Given the description of an element on the screen output the (x, y) to click on. 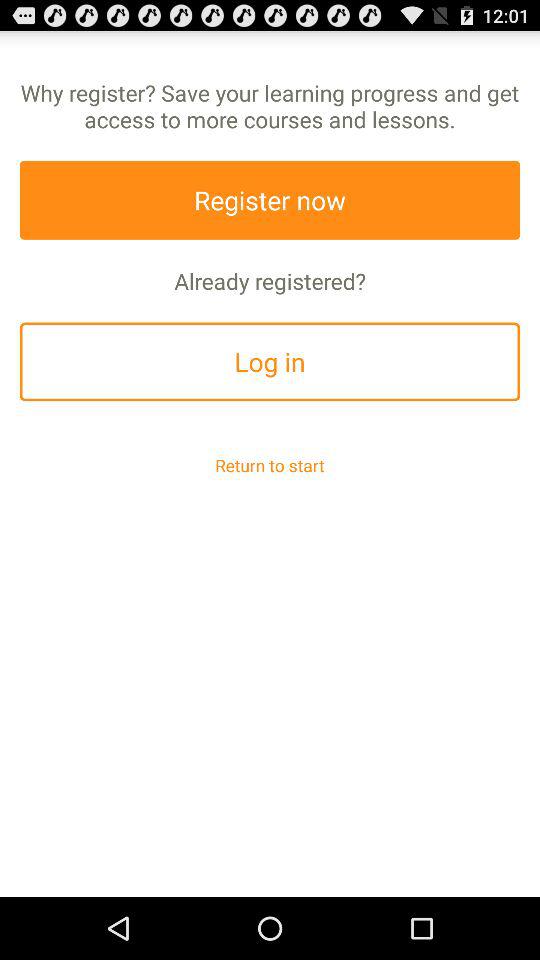
tap the register now app (269, 199)
